Given the description of an element on the screen output the (x, y) to click on. 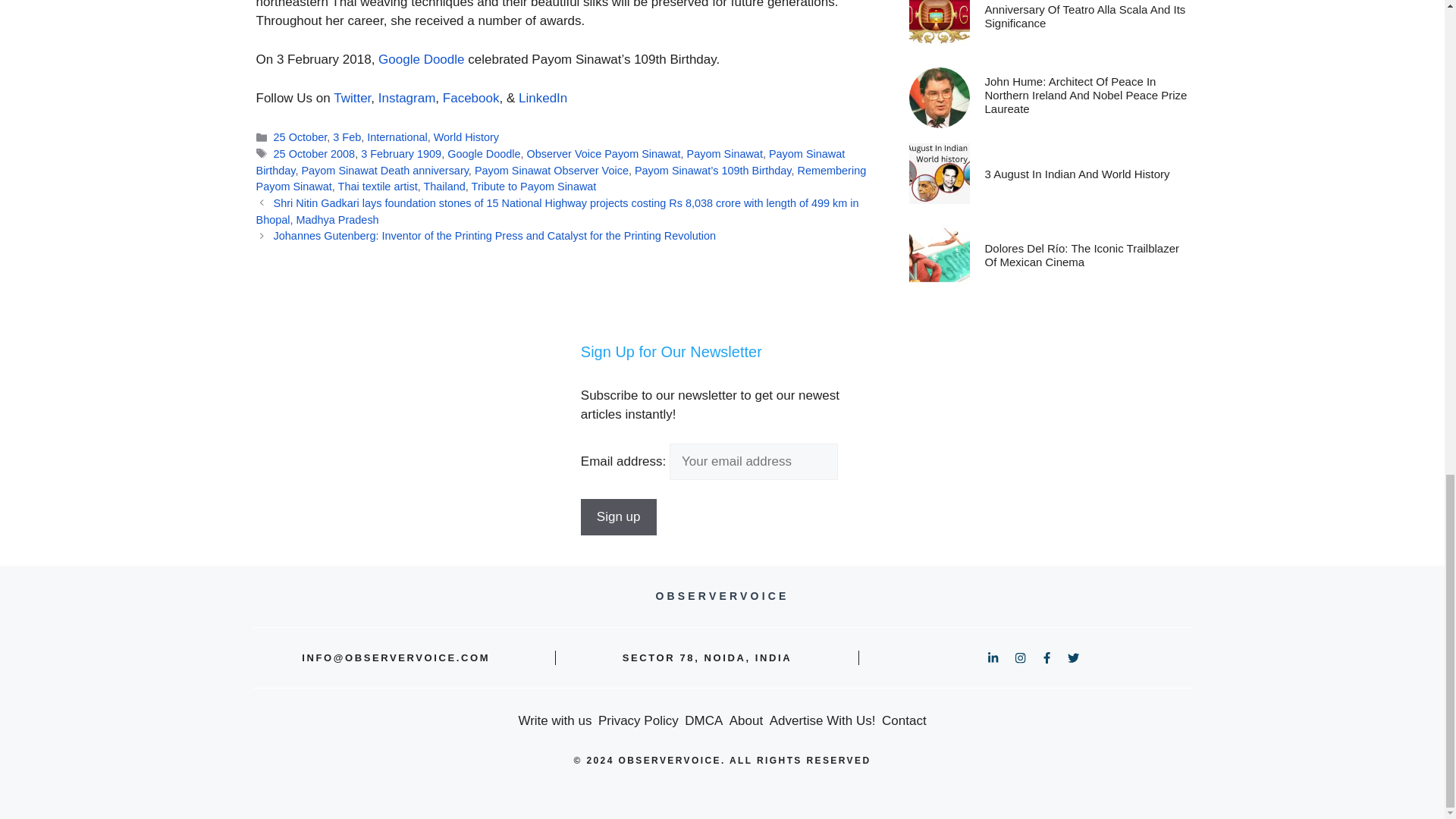
Sign up (618, 516)
Scroll back to top (1406, 399)
